Given the description of an element on the screen output the (x, y) to click on. 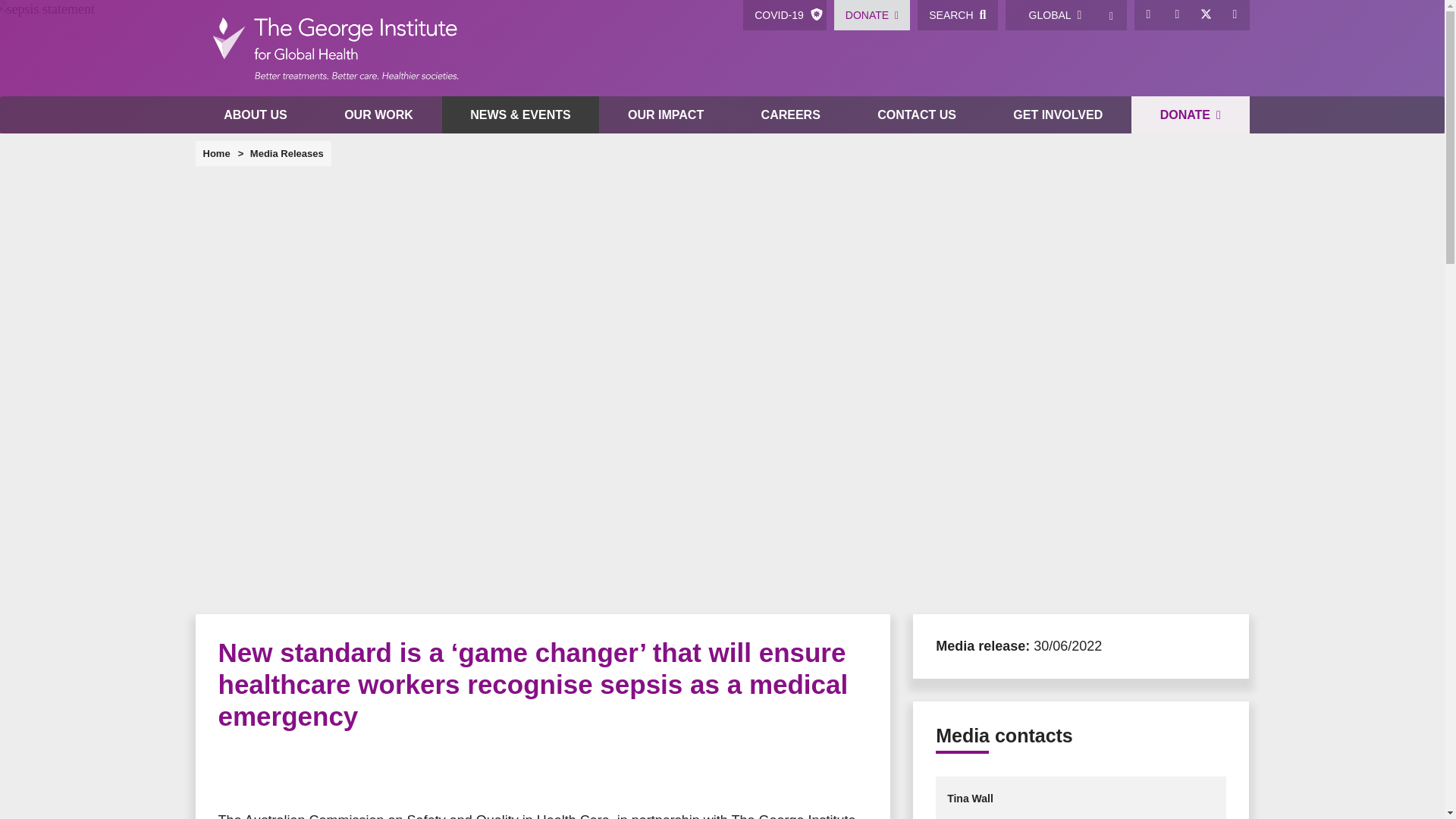
COVID-19 (784, 15)
DONATE (872, 15)
Share to Facebook (233, 771)
Share to Linkedin (324, 771)
LinkedIn (1177, 15)
OUR WORK (378, 114)
Share to X (263, 771)
Home (334, 48)
Facebook (1148, 15)
SEARCH (957, 15)
